Given the description of an element on the screen output the (x, y) to click on. 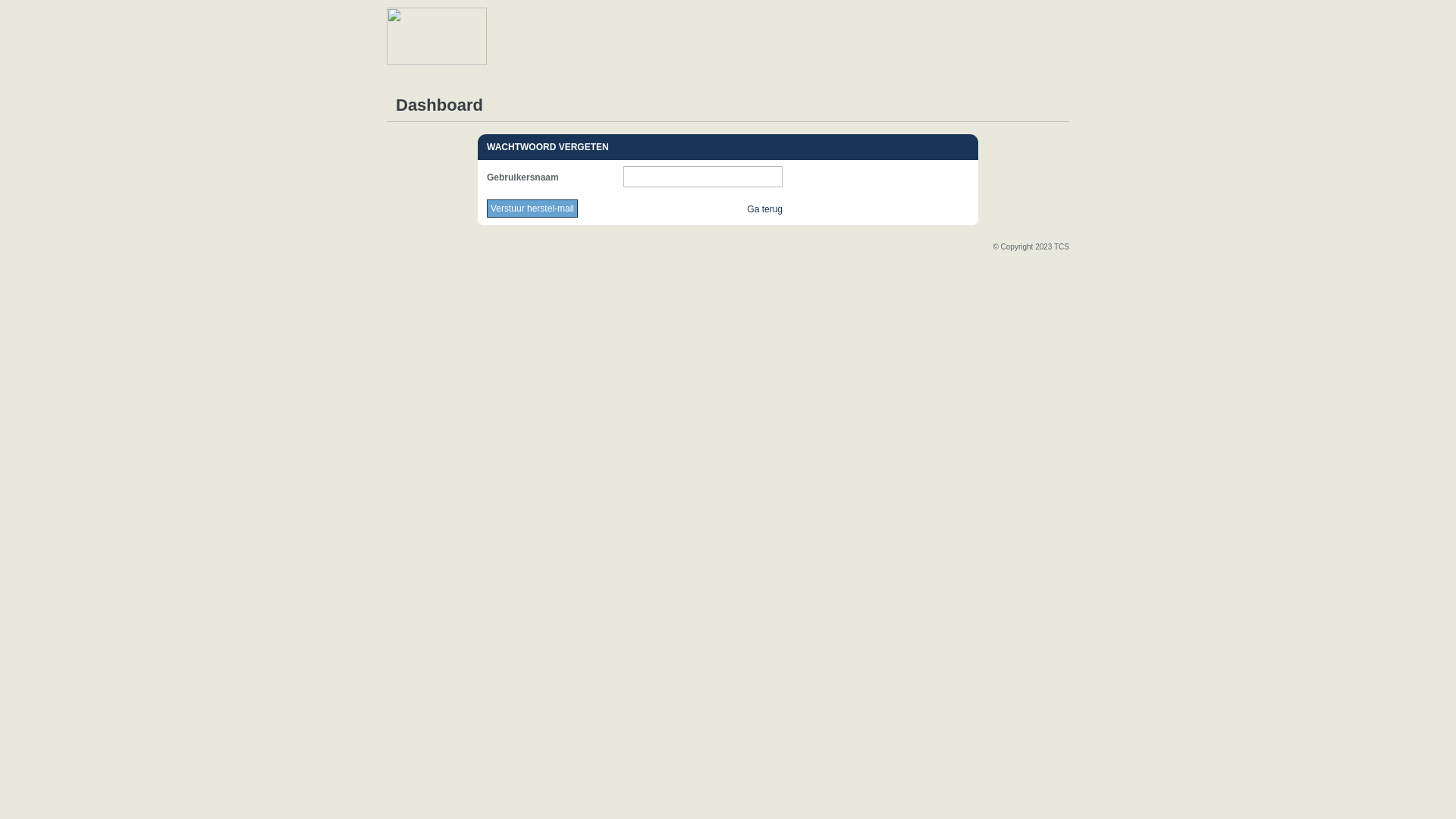
Verstuur herstel-mail Element type: text (531, 208)
Ga terug Element type: text (764, 208)
